Given the description of an element on the screen output the (x, y) to click on. 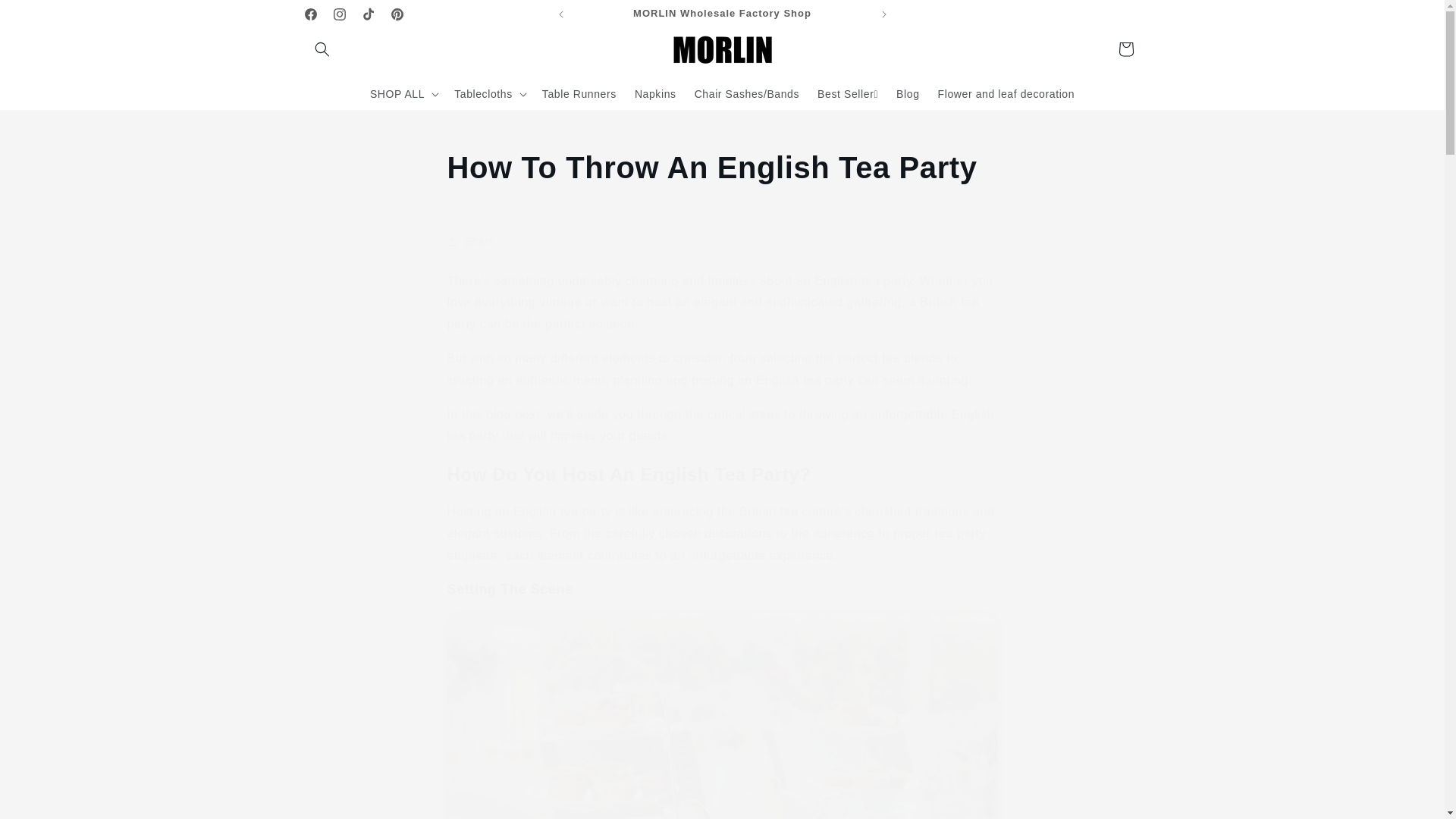
Share (721, 241)
How To Throw An English Tea Party (721, 167)
Pinterest (395, 14)
Facebook (309, 14)
TikTok (367, 14)
Instagram (338, 14)
Ignorer et passer au contenu (46, 18)
